Given the description of an element on the screen output the (x, y) to click on. 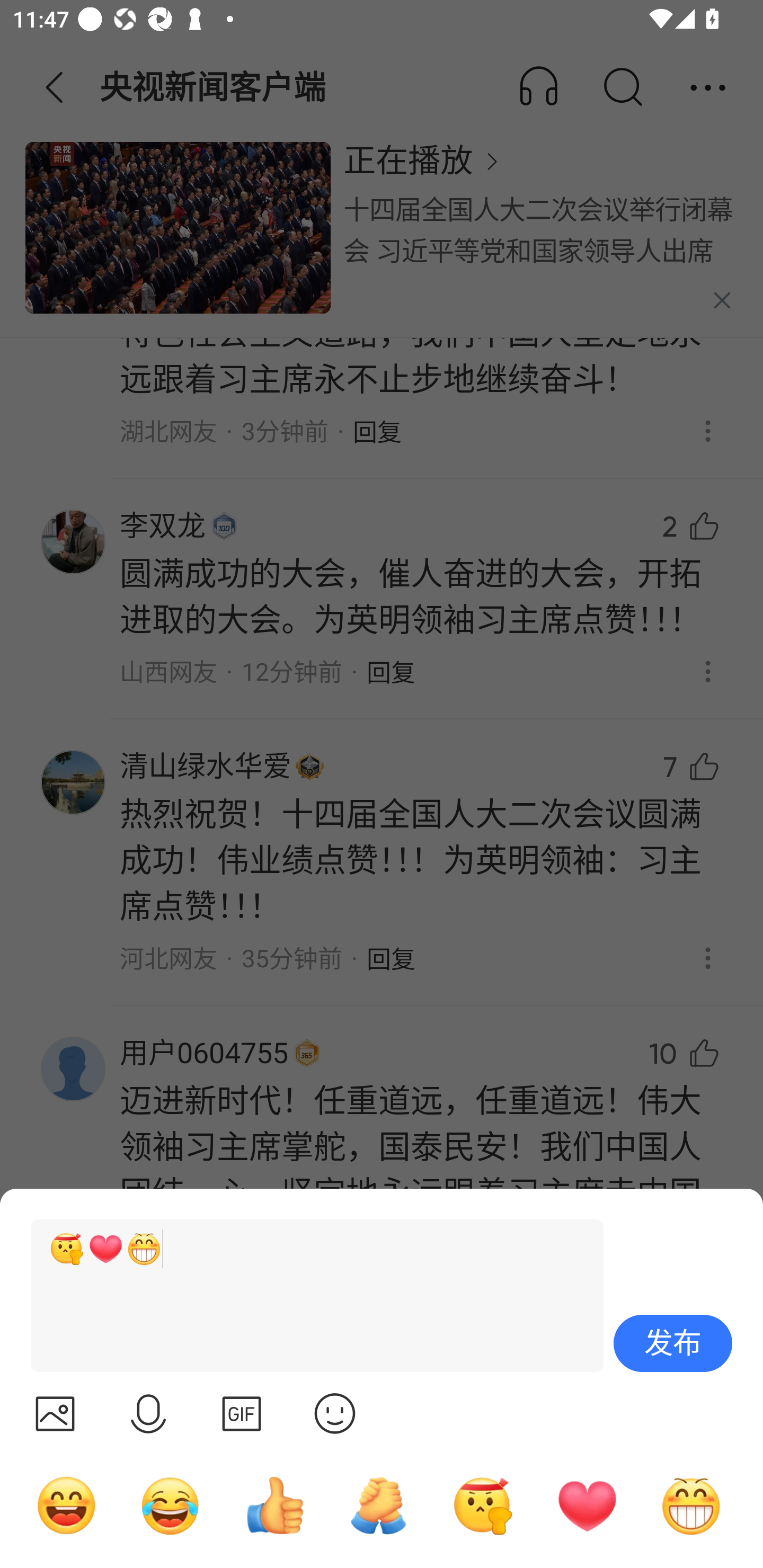
[奋斗][心][呲牙] (308, 1295)
发布 (672, 1343)
 (54, 1413)
 (148, 1413)
 (241, 1413)
 (334, 1413)
哈哈 (66, 1505)
哭笑 (170, 1505)
点赞 (274, 1505)
加油 (378, 1505)
奋斗 (482, 1505)
心 (586, 1505)
呲牙 (690, 1505)
